Given the description of an element on the screen output the (x, y) to click on. 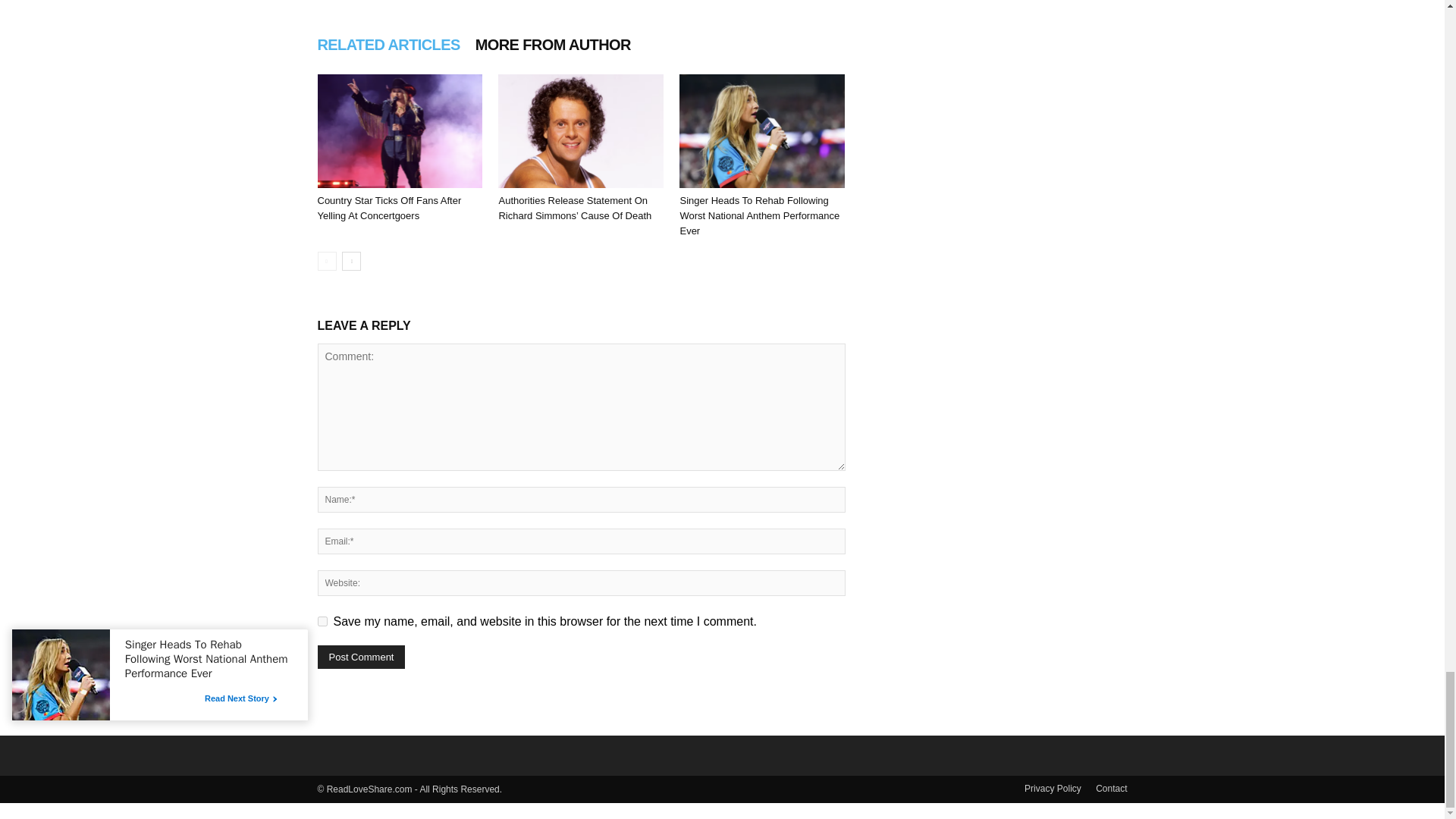
yes (321, 621)
Post Comment (360, 657)
